Given the description of an element on the screen output the (x, y) to click on. 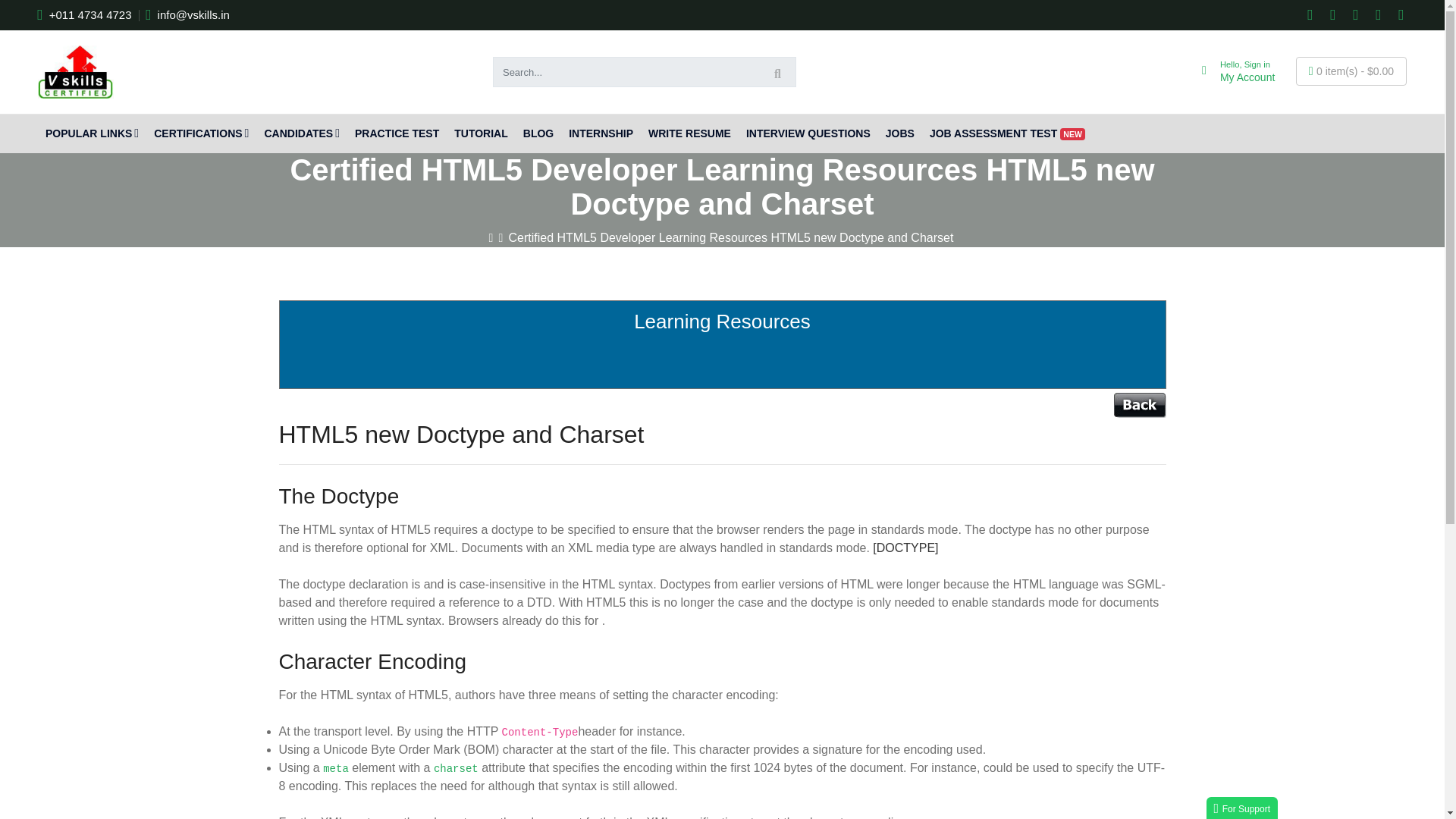
attr-meta-charset (456, 768)
CERTIFICATIONS (201, 133)
POPULAR LINKS (92, 133)
